Given the description of an element on the screen output the (x, y) to click on. 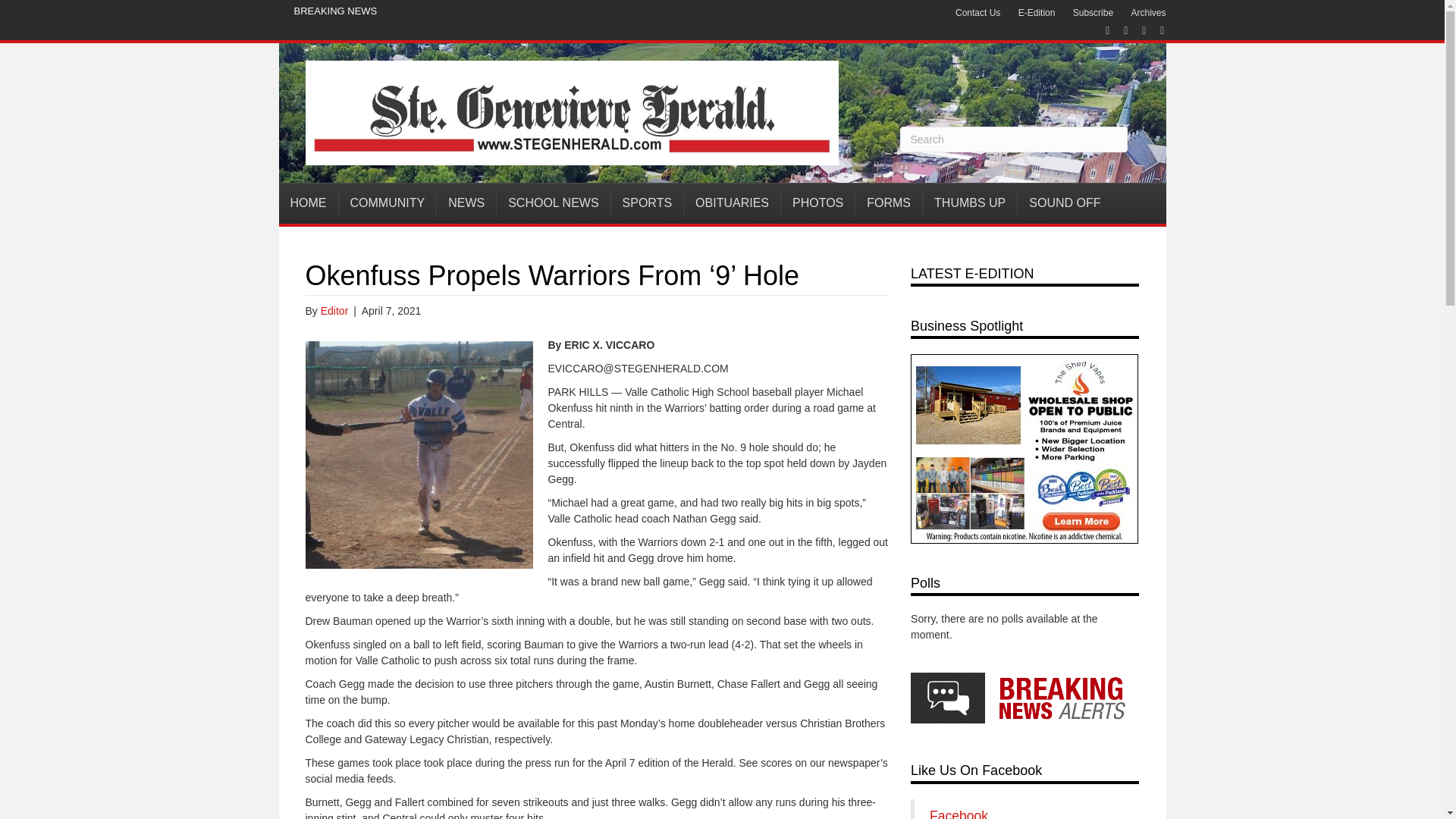
THUMBS UP (970, 202)
Email (1154, 30)
Type and press Enter to search. (1012, 139)
Subscribe (1093, 13)
SCHOOL NEWS (553, 202)
Facebook (1099, 30)
HOME (309, 202)
Twitter (1117, 30)
Linkedin (1135, 30)
NEWS (466, 202)
